Given the description of an element on the screen output the (x, y) to click on. 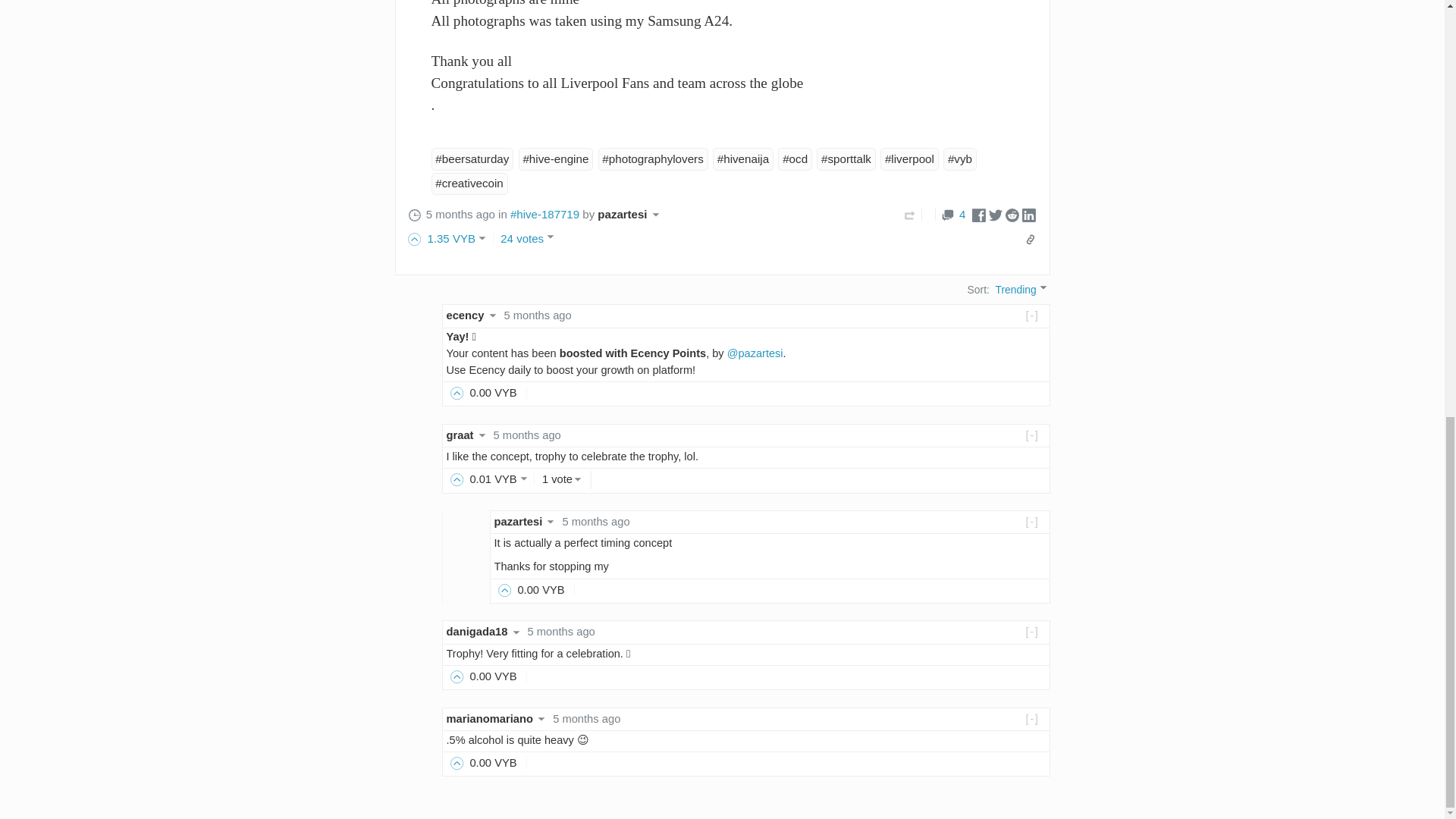
Share on Reddit (1012, 214)
Share on Twitter (995, 214)
24 votes (528, 237)
4 Responses (953, 214)
Share on Facebook (978, 214)
Share on Linkedin (1028, 214)
Share this post (1029, 239)
1.35 VYB (453, 237)
pazartesi (629, 214)
